Given the description of an element on the screen output the (x, y) to click on. 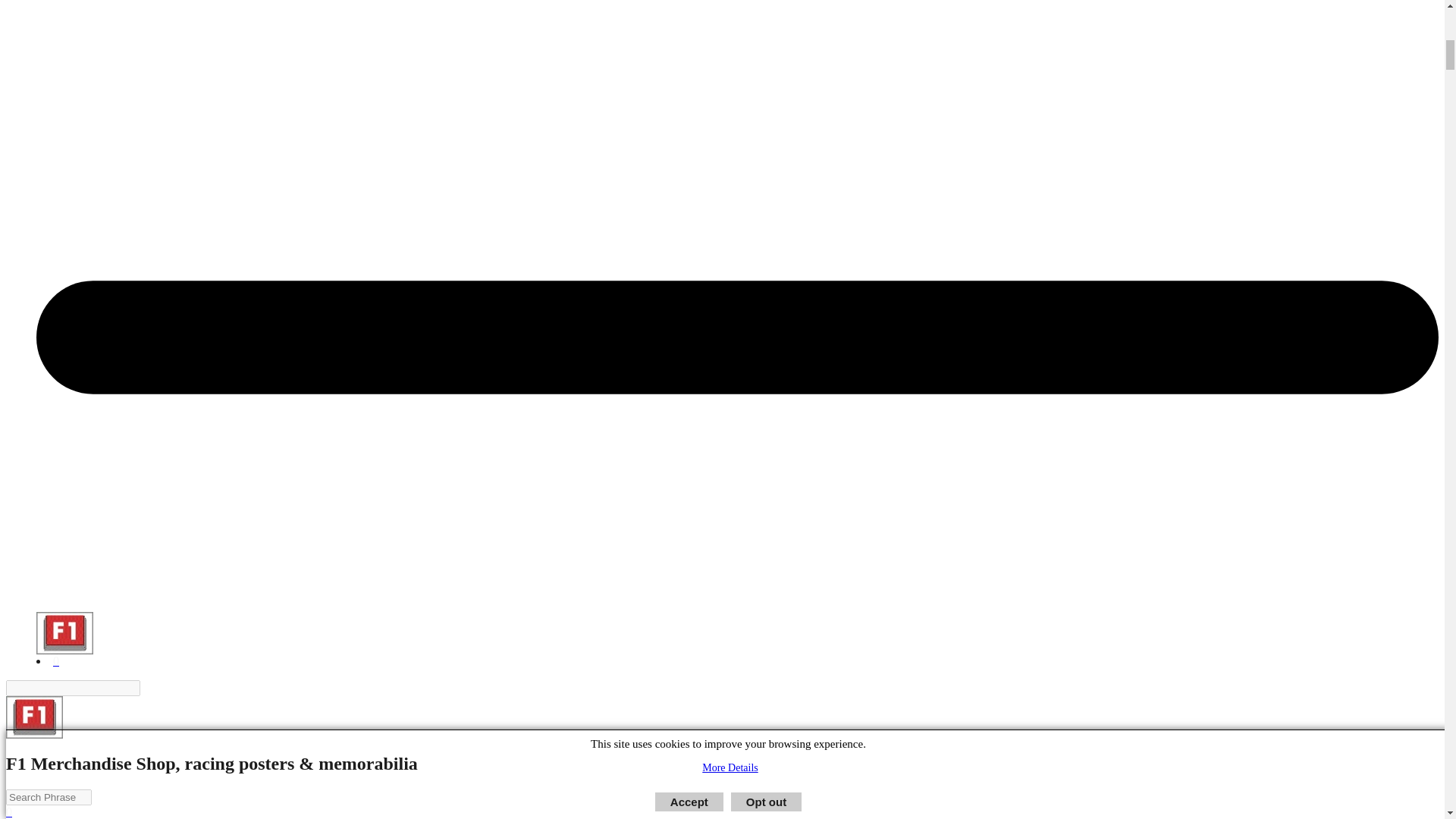
Find (148, 687)
